Given the description of an element on the screen output the (x, y) to click on. 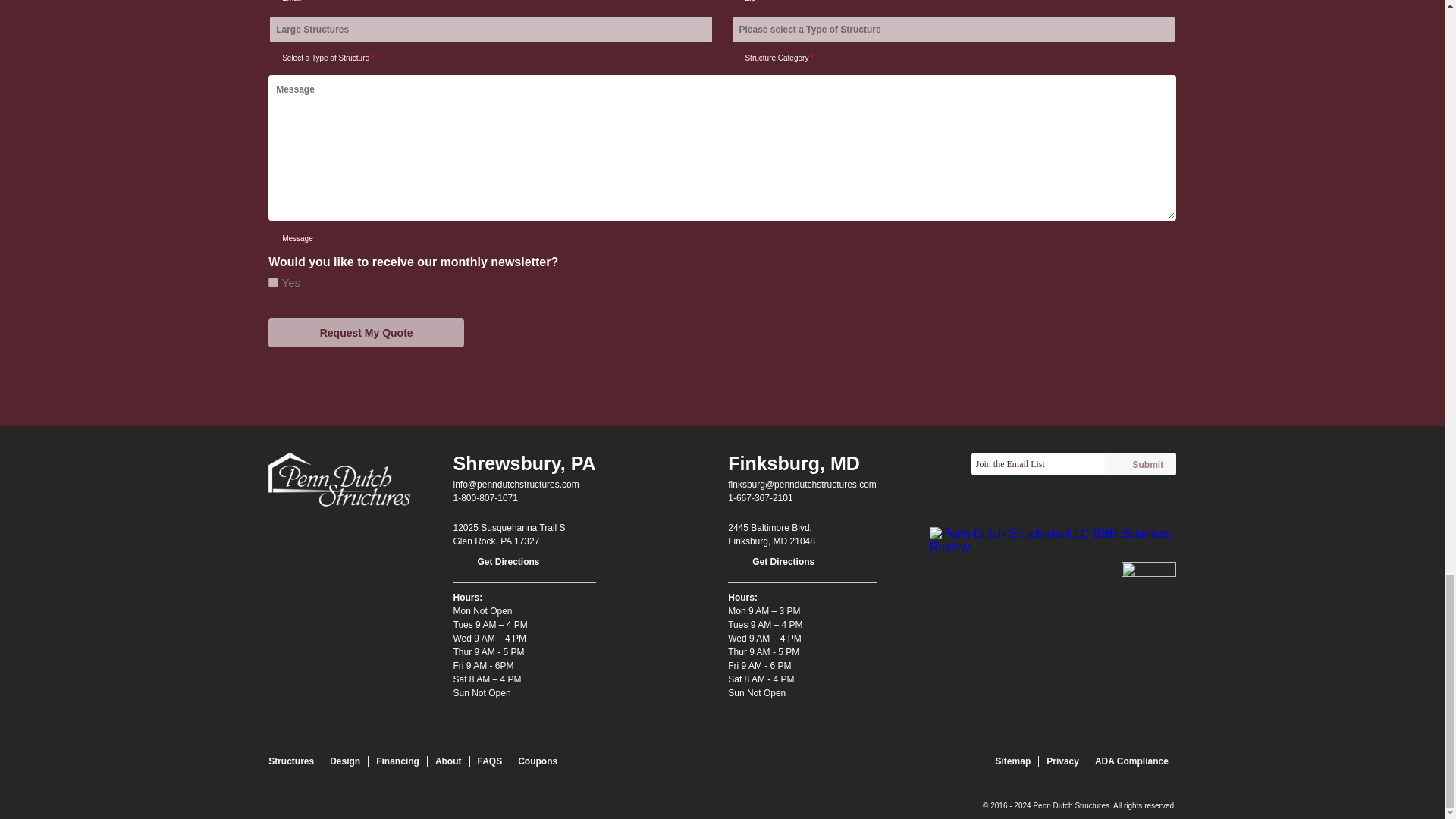
Request My Quote (365, 332)
Submit (1140, 463)
Yes (272, 282)
